Given the description of an element on the screen output the (x, y) to click on. 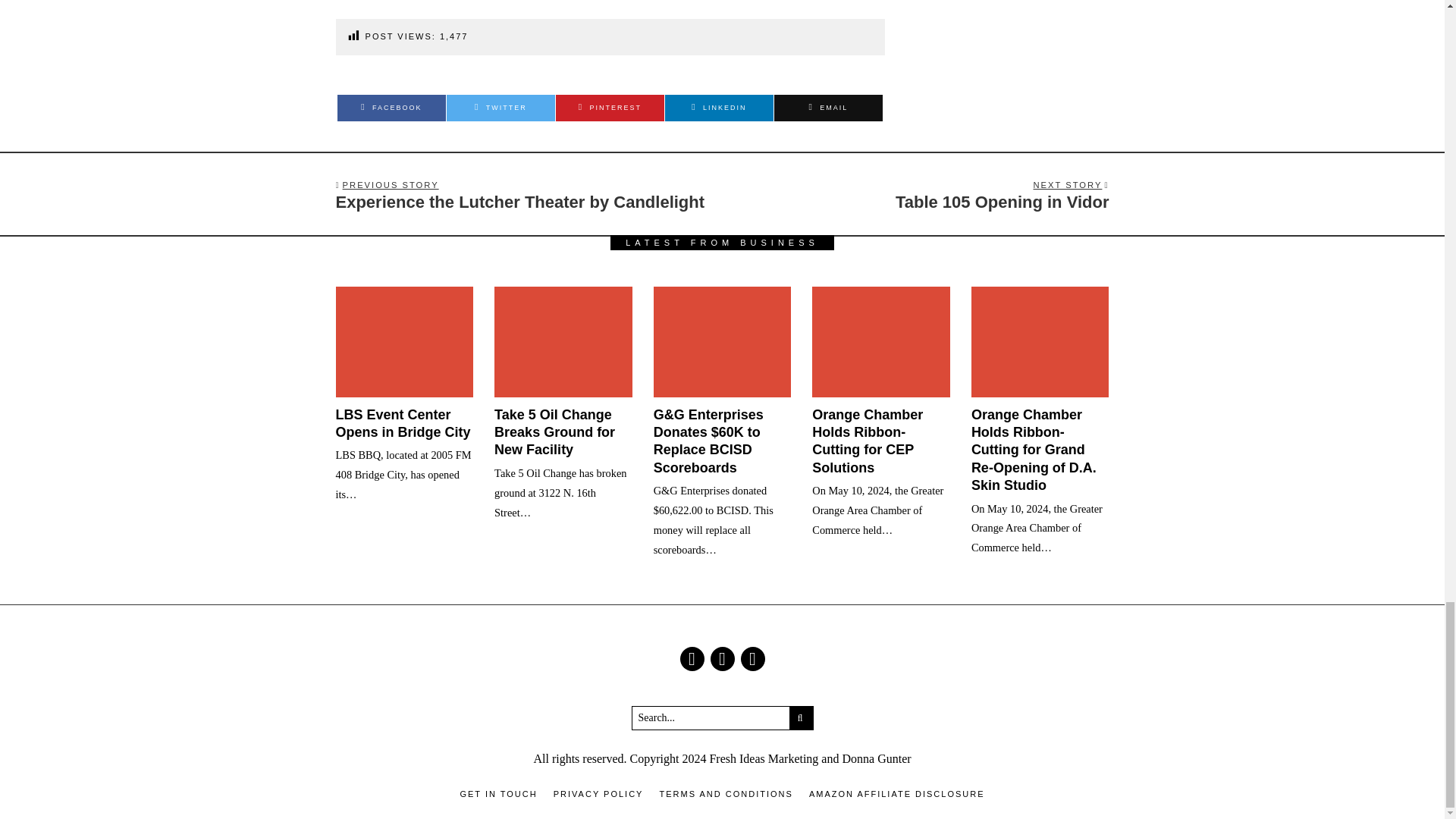
Twitter (500, 108)
Email (828, 108)
Linkedin (719, 108)
Facebook (691, 658)
FACEBOOK (391, 108)
PINTEREST (609, 108)
Pinterest (609, 108)
TWITTER (500, 108)
Instagram (919, 194)
